Given the description of an element on the screen output the (x, y) to click on. 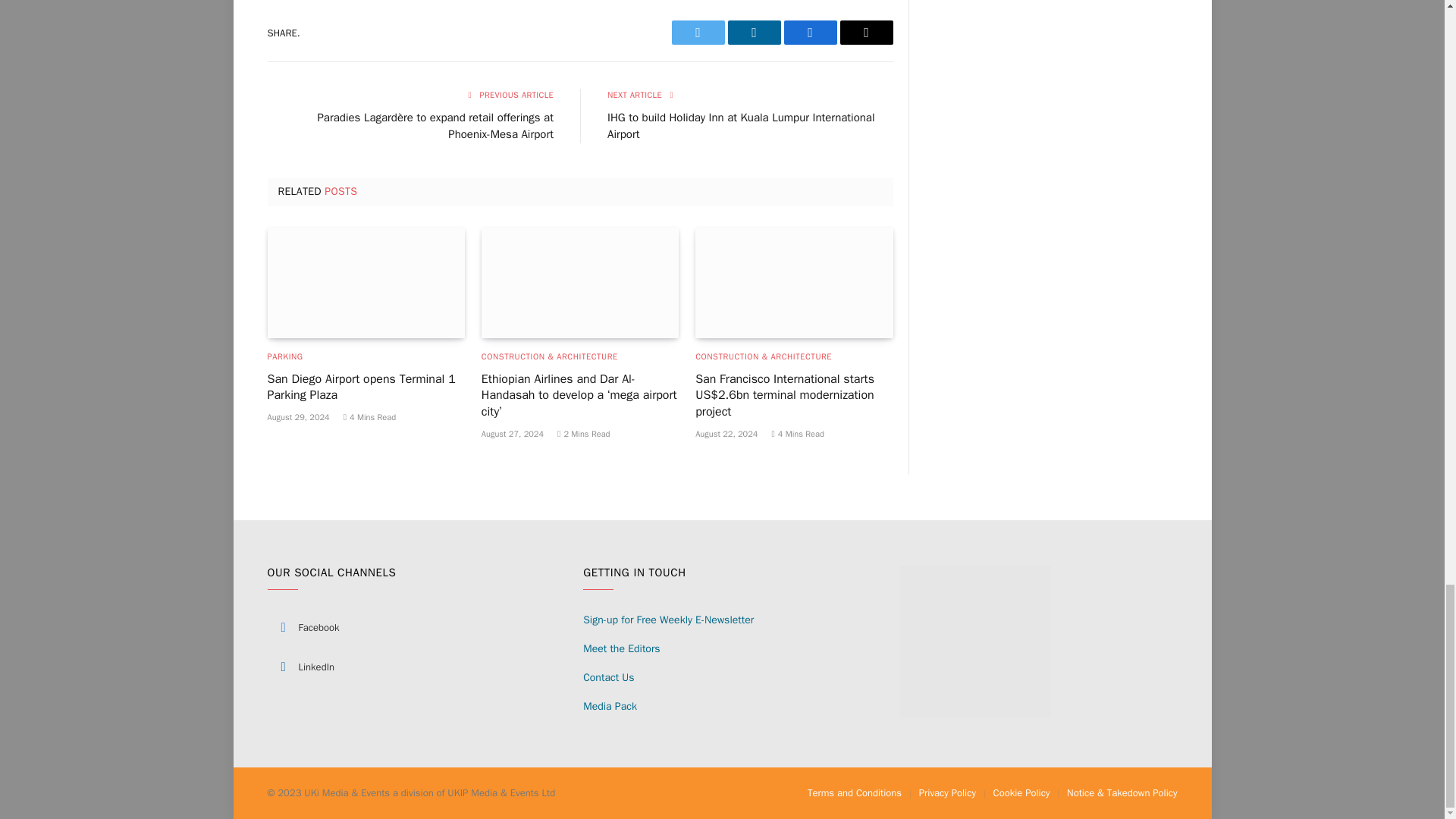
Share via Email (866, 32)
Share on LinkedIn (754, 32)
Share on Facebook (810, 32)
San Diego Airport opens Terminal 1 Parking Plaza (365, 282)
